Given the description of an element on the screen output the (x, y) to click on. 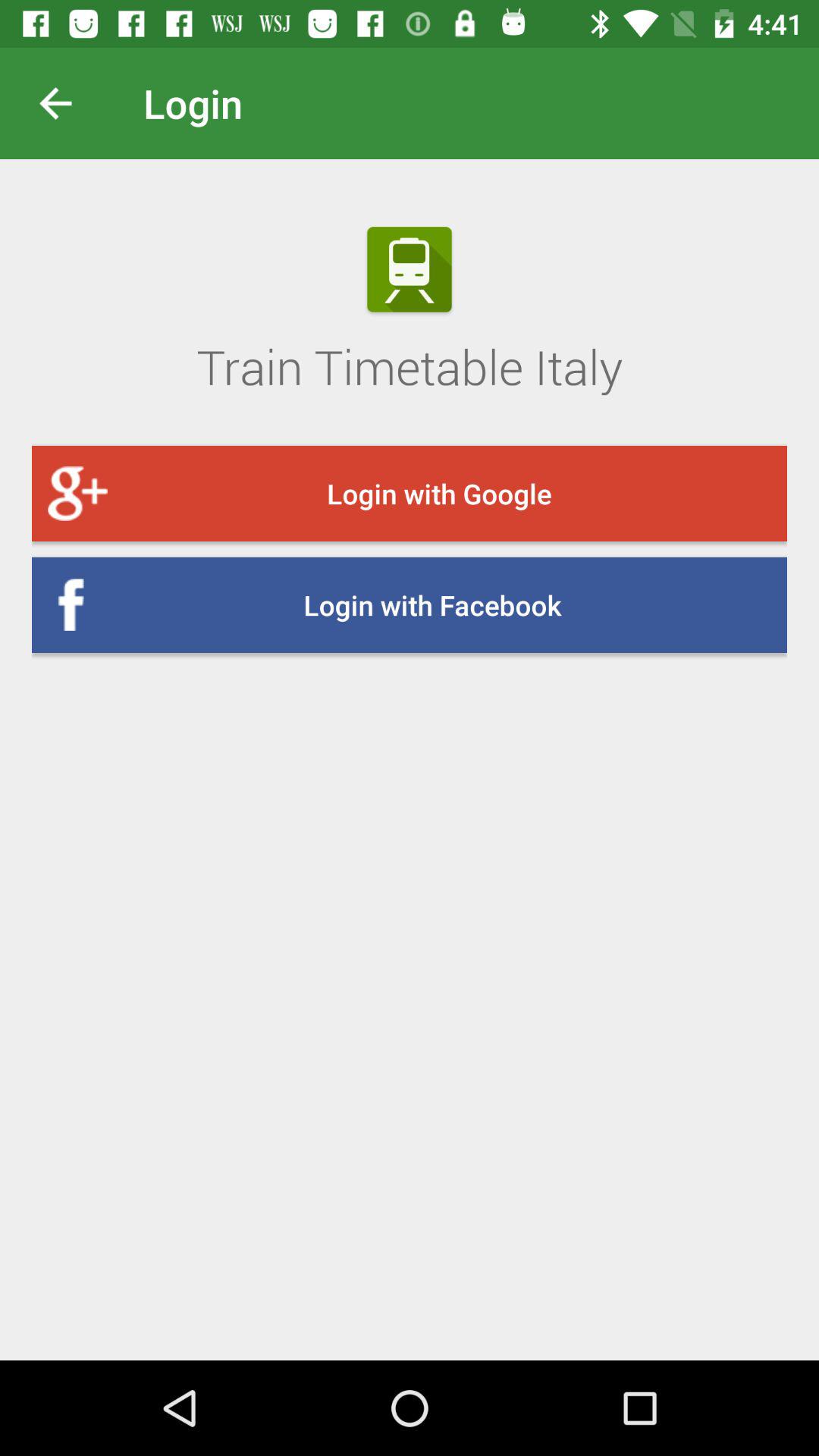
select app next to the login (67, 103)
